Given the description of an element on the screen output the (x, y) to click on. 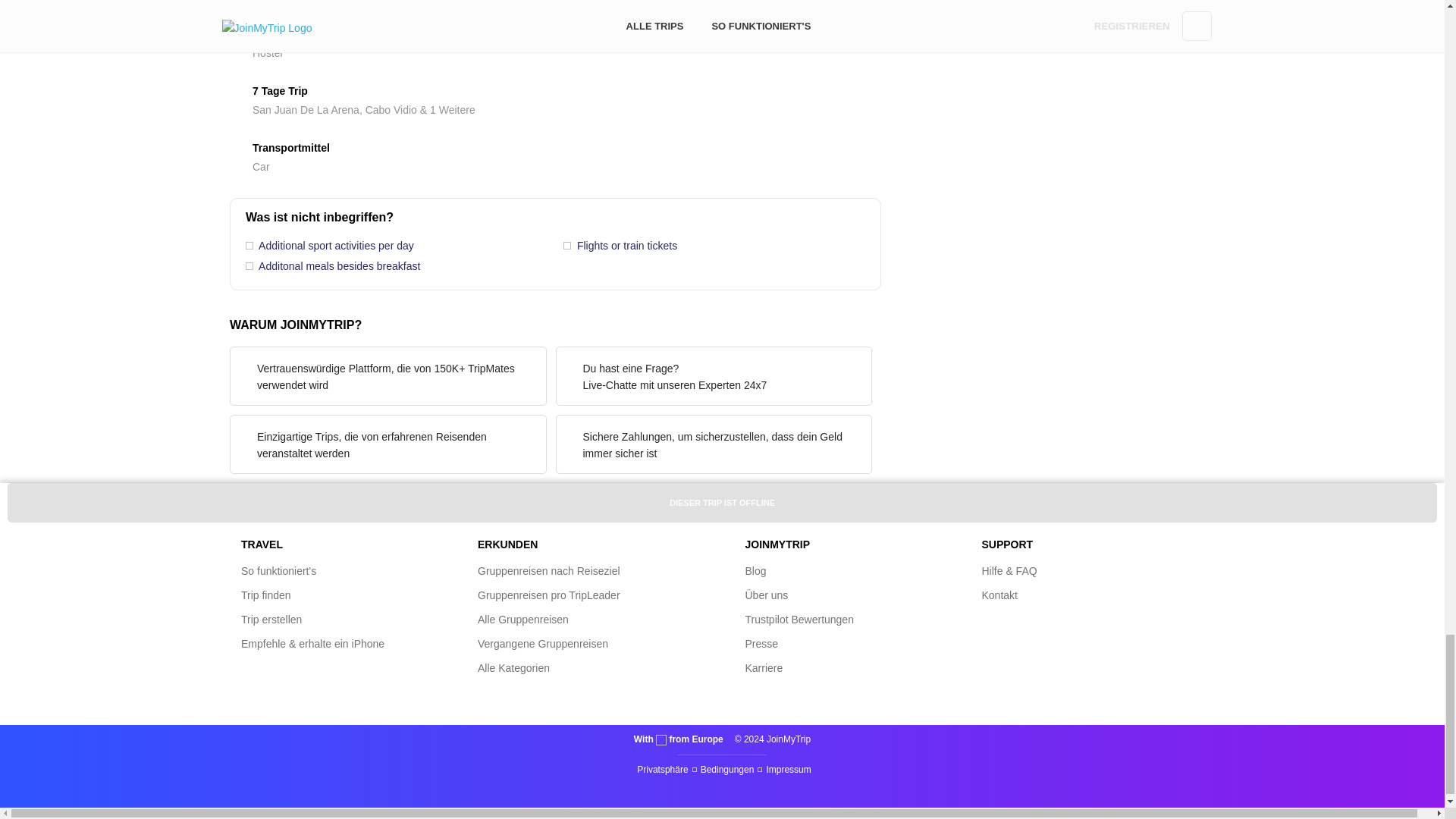
Presse (760, 644)
Trip finden (266, 594)
Gruppenreisen pro TripLeader (548, 594)
Gruppenreisen nach Reiseziel (548, 571)
Trustpilot Bewertungen (798, 619)
Alle Kategorien (513, 667)
So funktioniert's (278, 571)
Trip erstellen (271, 619)
Alle Gruppenreisen (523, 619)
Vergangene Gruppenreisen (542, 644)
Blog (754, 571)
